Given the description of an element on the screen output the (x, y) to click on. 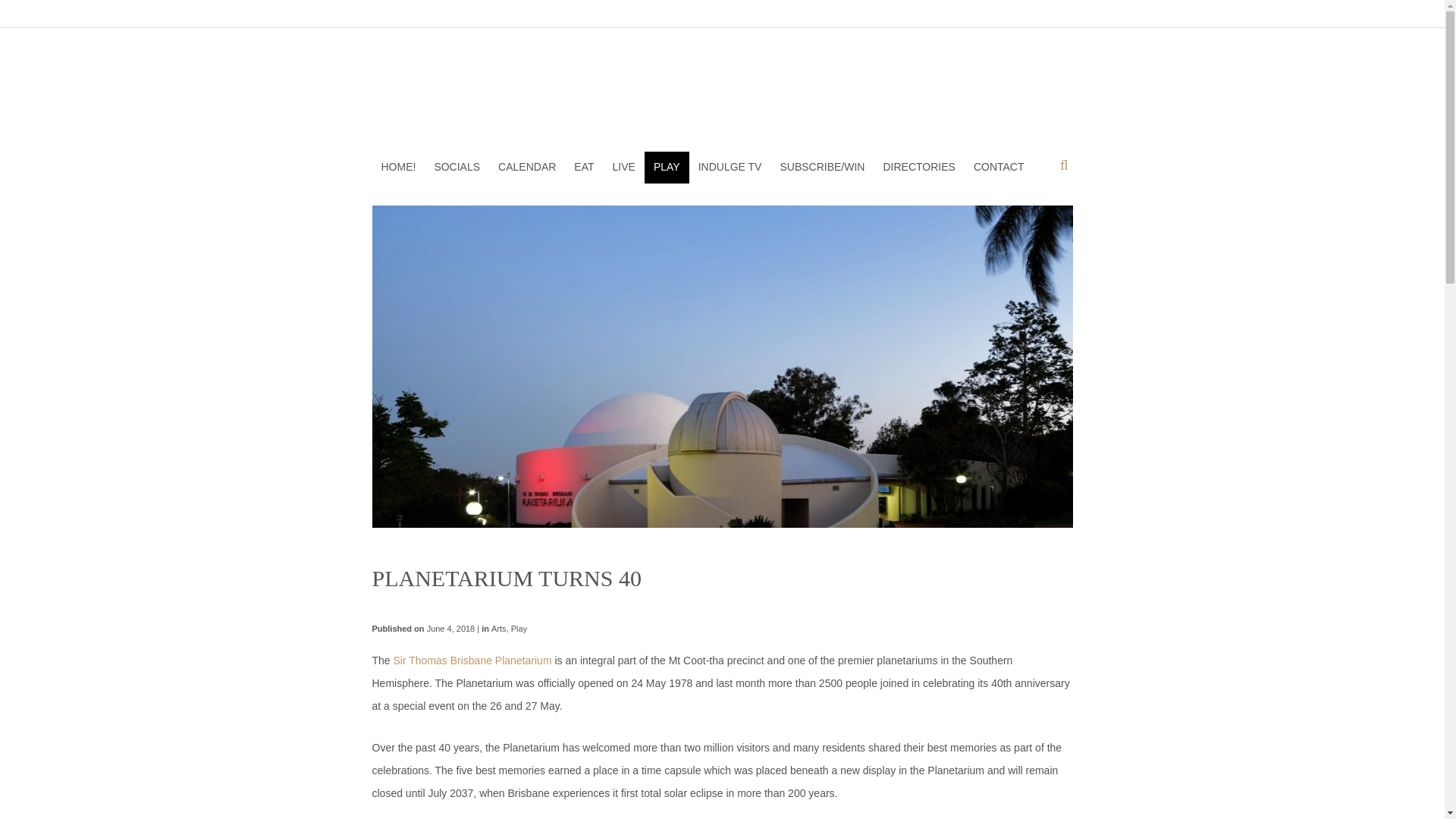
HOME! (398, 167)
DIRECTORIES (918, 167)
SOCIALS (457, 167)
CONTACT (998, 167)
EAT (583, 167)
LIVE (624, 167)
CALENDAR (526, 167)
PLAY (666, 167)
INDULGE TV (729, 167)
Indulge Magazine (721, 92)
